Given the description of an element on the screen output the (x, y) to click on. 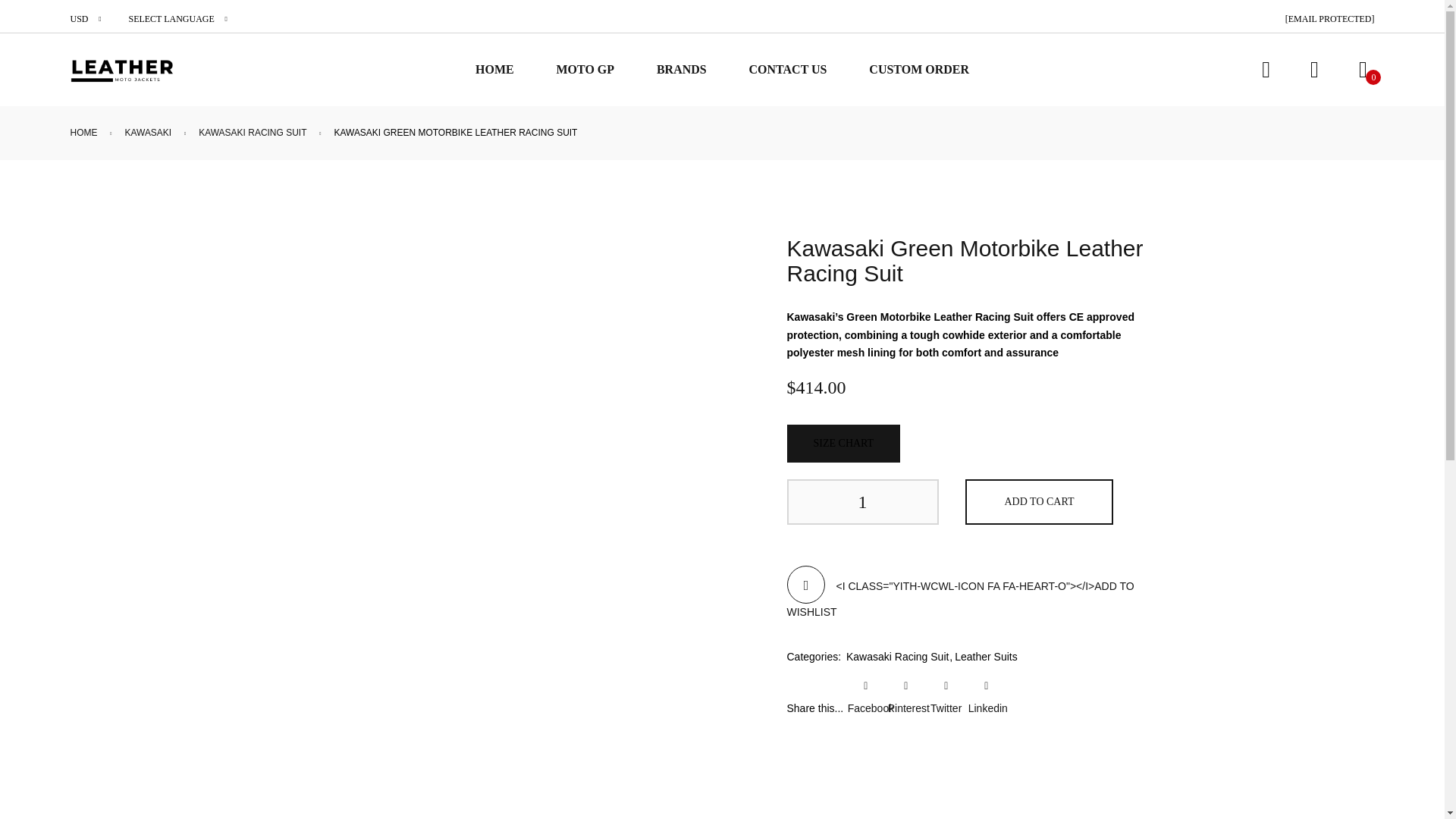
MOTO GP (585, 69)
Linkedin (986, 707)
Pinterest (906, 707)
Twitter (945, 707)
1 (863, 501)
Home (83, 132)
BRANDS (681, 69)
CUSTOM ORDER (919, 69)
Facebook (865, 707)
Leather Moto Jackets (121, 69)
